Given the description of an element on the screen output the (x, y) to click on. 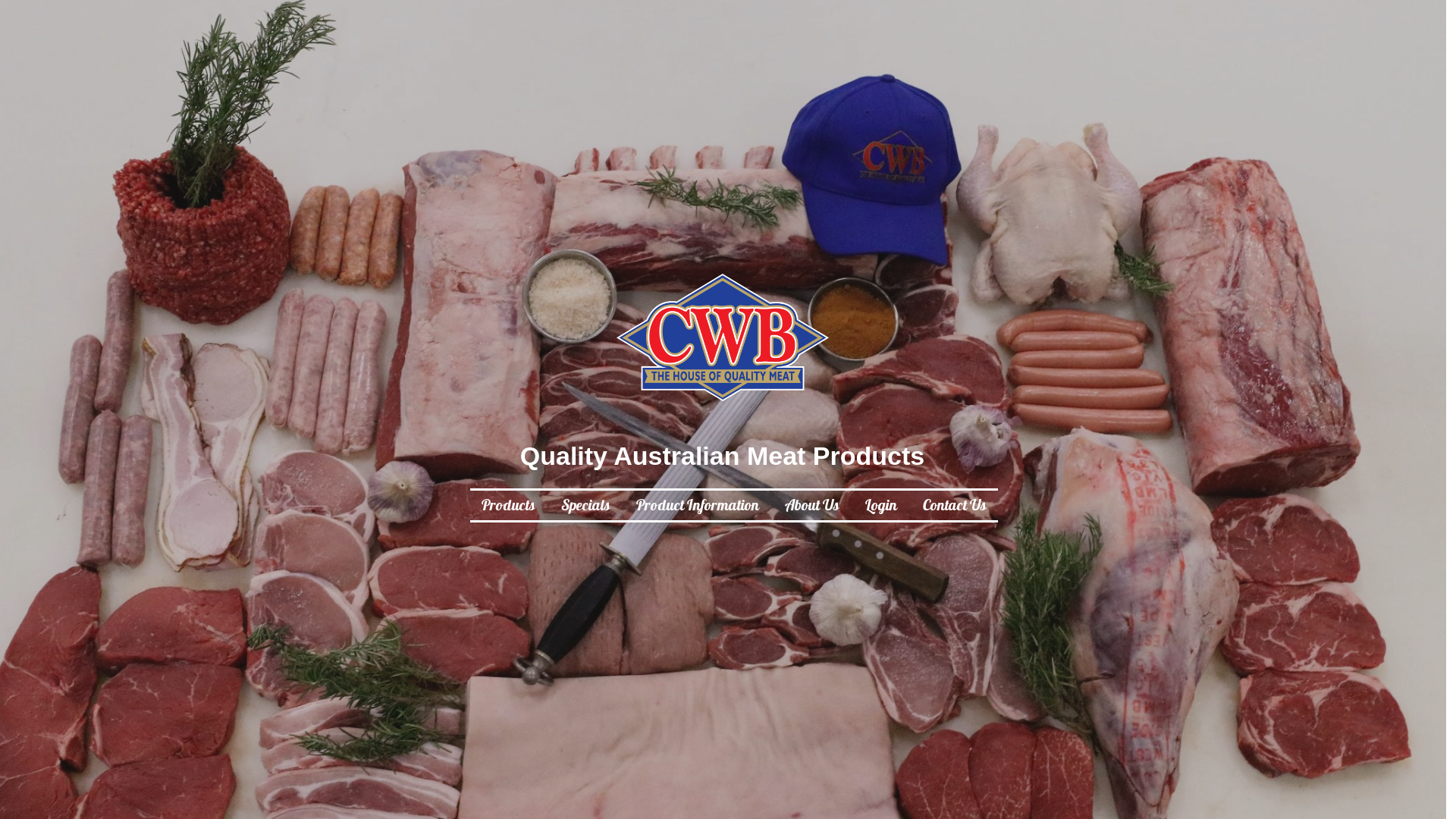
About Us Element type: text (811, 506)
Products Element type: text (507, 506)
Login Element type: text (880, 506)
Specials Element type: text (585, 506)
Contact Us Element type: text (953, 506)
Product Information Element type: text (696, 506)
